Given the description of an element on the screen output the (x, y) to click on. 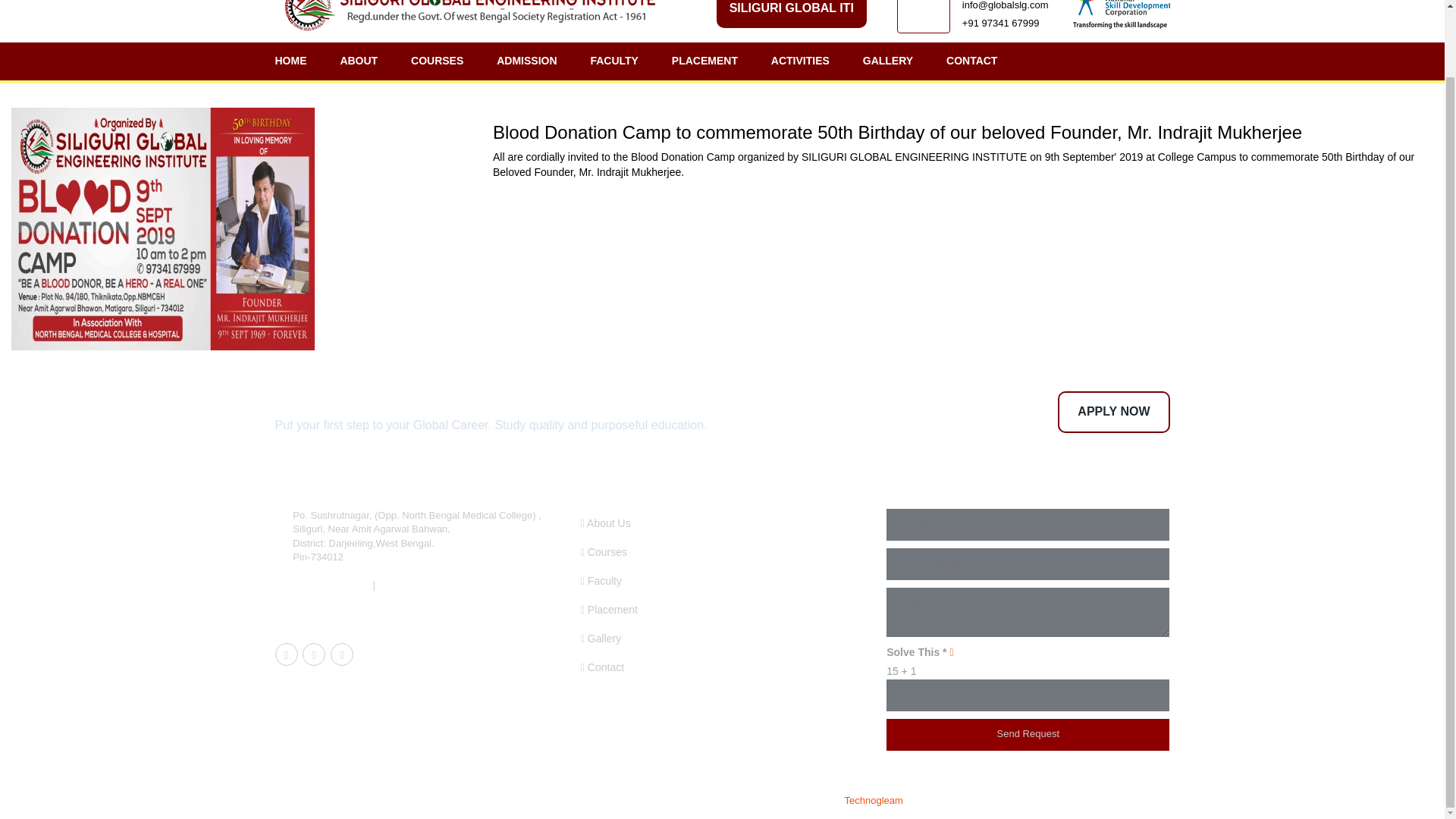
ADMISSION (526, 61)
CONTACT (971, 61)
About Us (605, 522)
GALLERY (887, 61)
ABOUT (358, 61)
ACTIVITIES (799, 61)
Placement (608, 609)
Gallery (600, 638)
SILIGURI GLOBAL ITI (791, 13)
APPLY NOW (1113, 412)
